Given the description of an element on the screen output the (x, y) to click on. 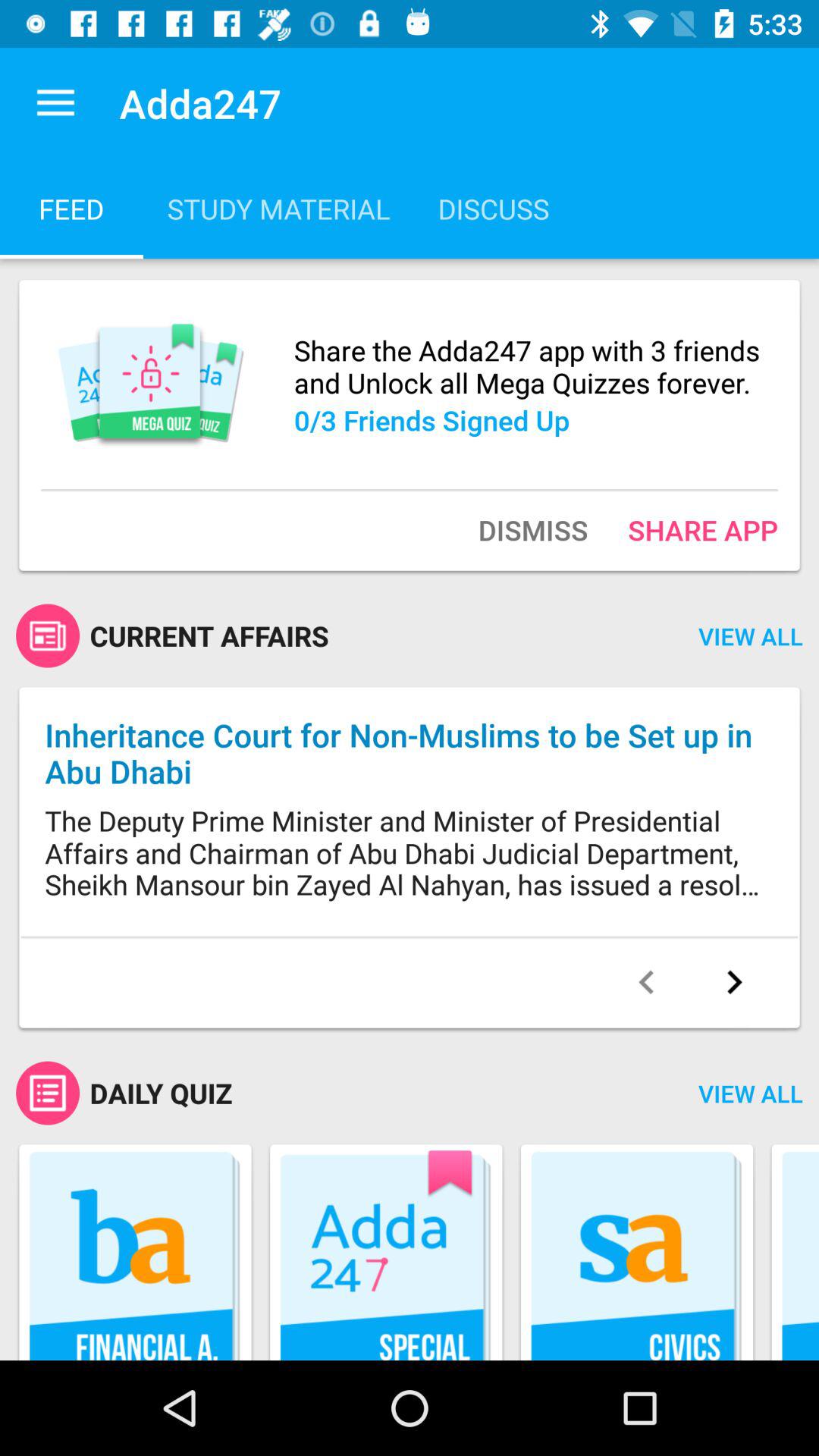
go back to previous article (646, 982)
